Given the description of an element on the screen output the (x, y) to click on. 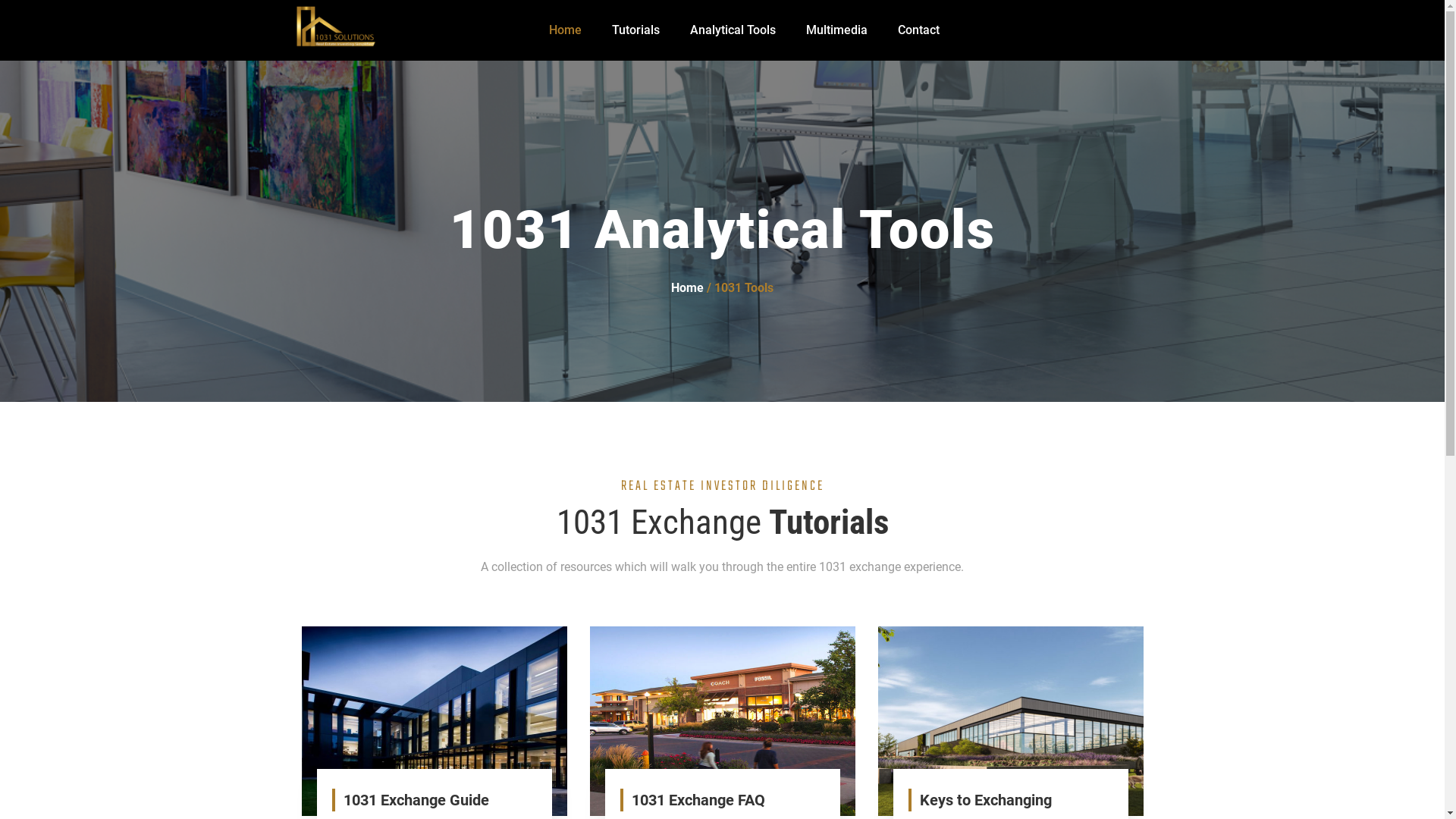
Home Element type: text (565, 30)
Tutorials Element type: text (635, 30)
Contact Element type: text (918, 30)
Multimedia Element type: text (836, 30)
Home Element type: text (687, 287)
Analytical Tools Element type: text (732, 30)
